Given the description of an element on the screen output the (x, y) to click on. 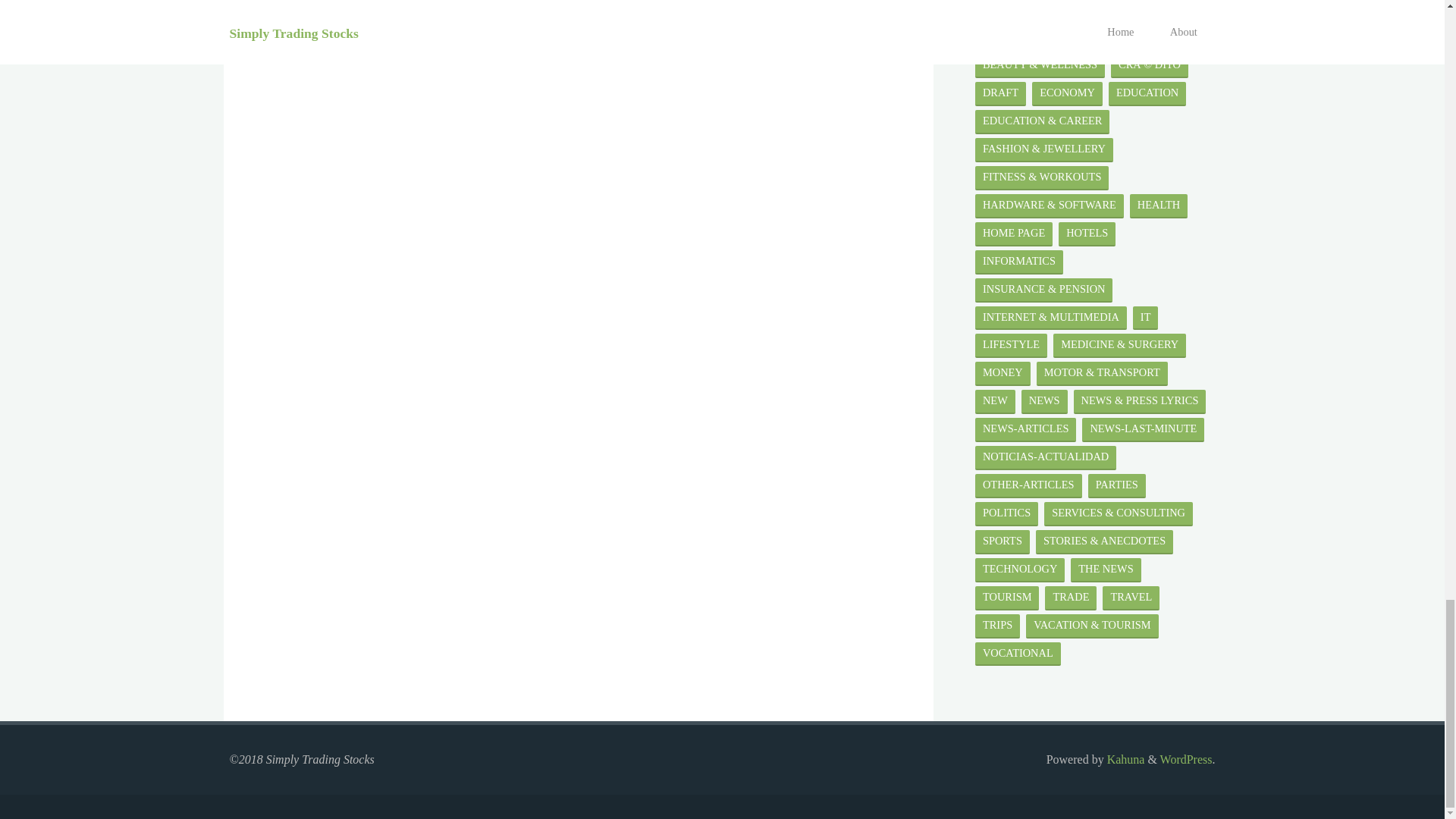
Kahuna WordPress Theme by Cryout Creations (1123, 758)
Semantic Personal Publishing Platform (1186, 758)
